Given the description of an element on the screen output the (x, y) to click on. 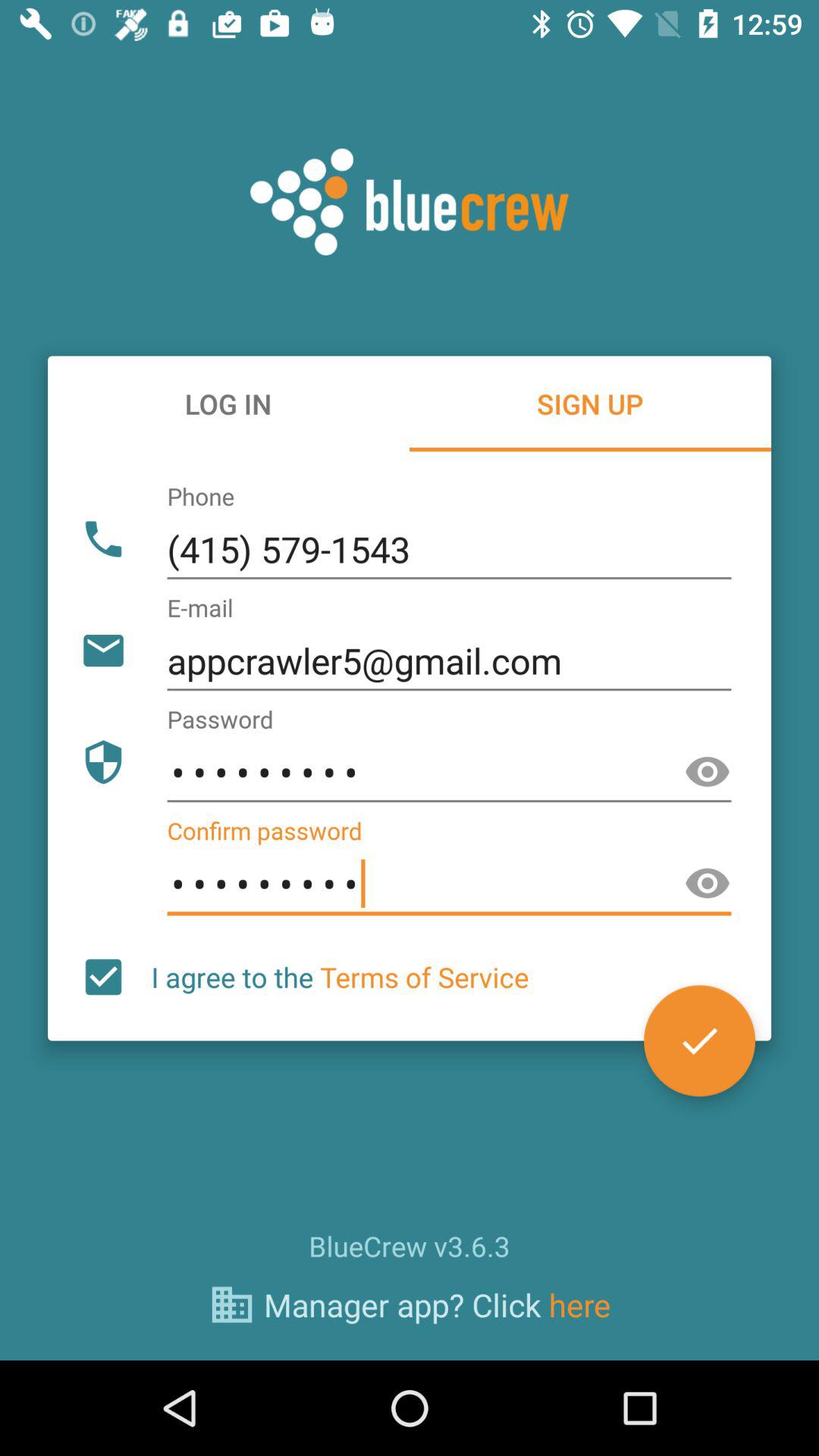
show password (707, 883)
